Given the description of an element on the screen output the (x, y) to click on. 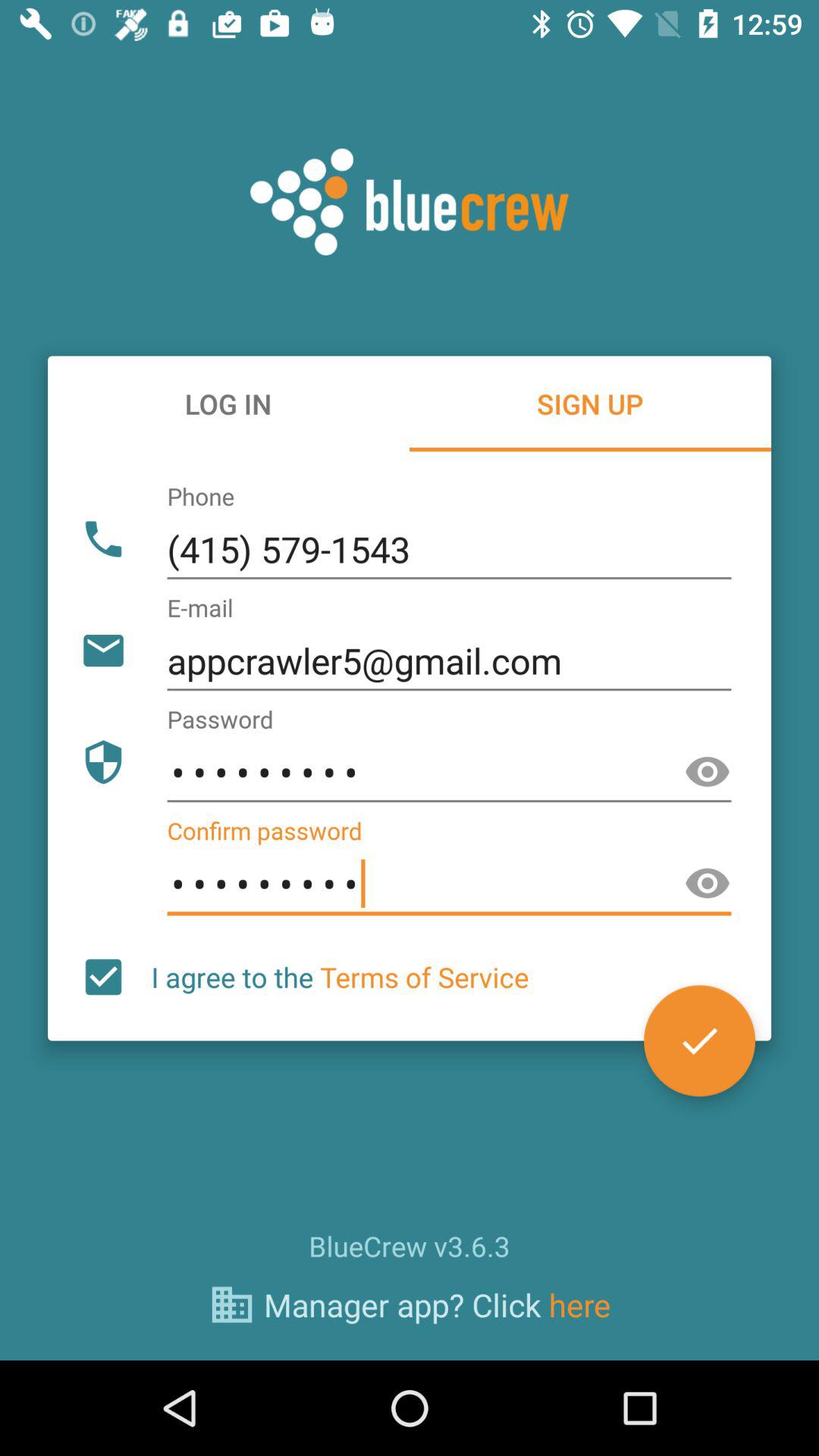
show password (707, 883)
